Given the description of an element on the screen output the (x, y) to click on. 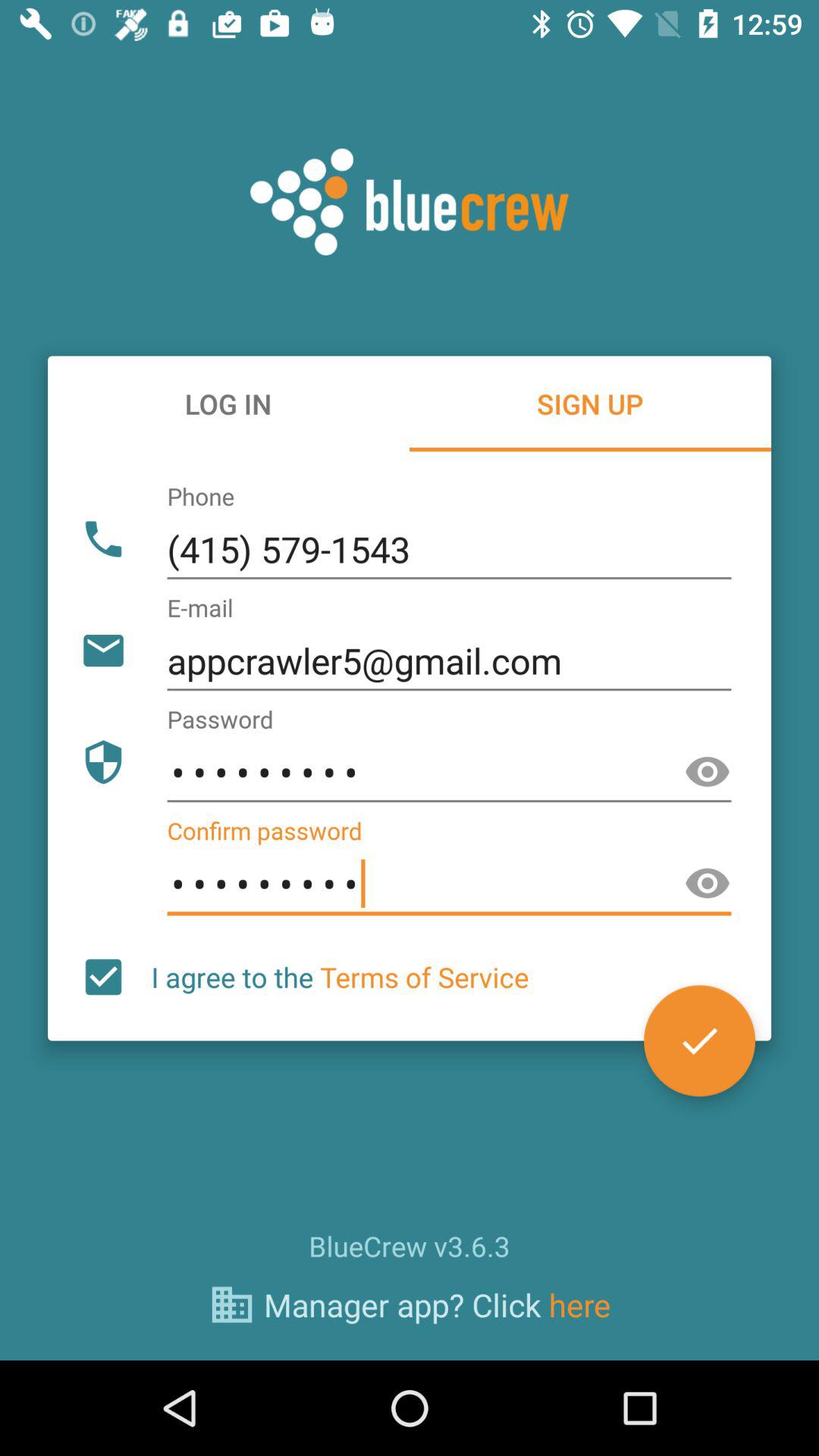
show password (707, 883)
